Given the description of an element on the screen output the (x, y) to click on. 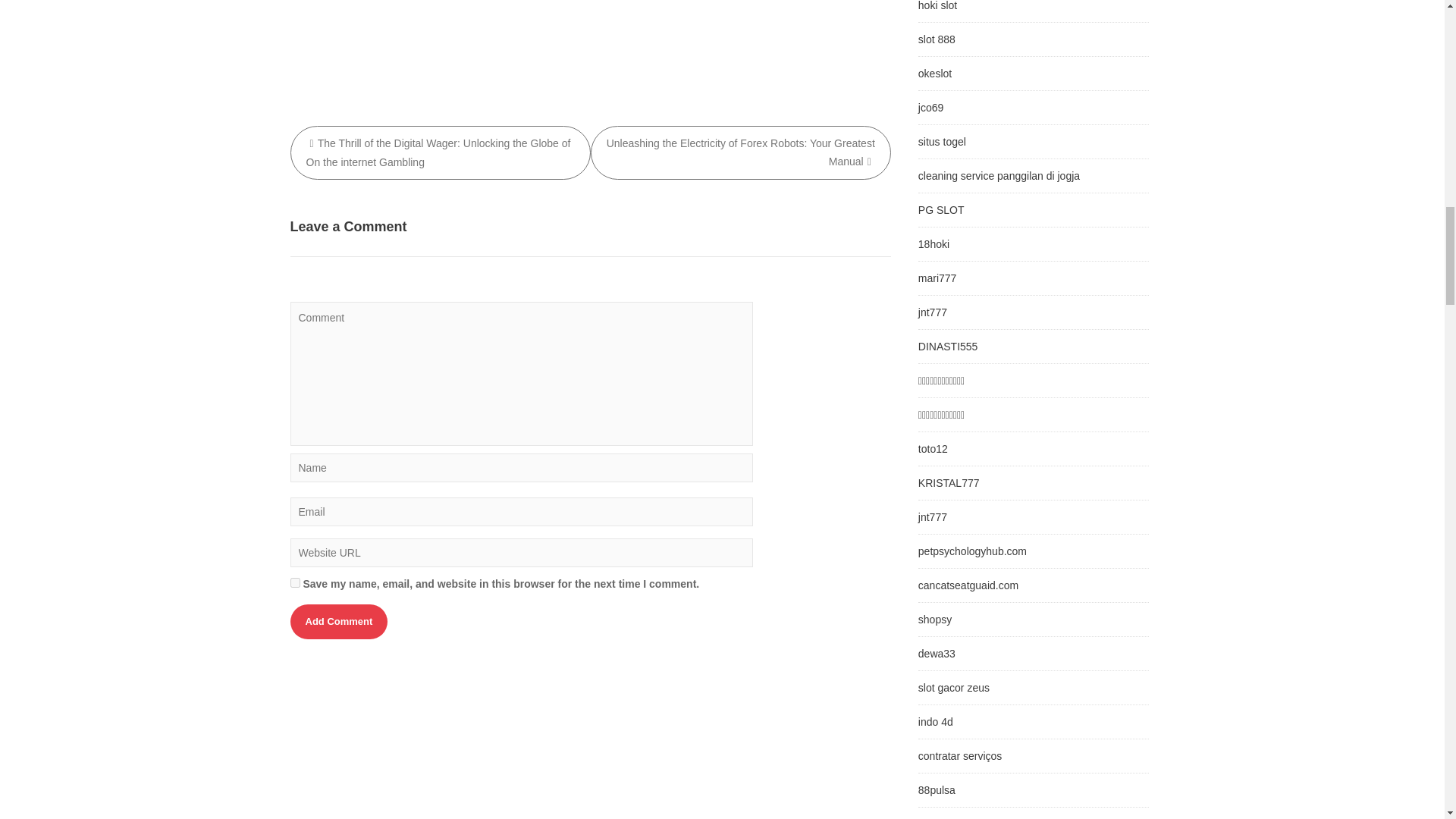
Add Comment (338, 621)
yes (294, 583)
Add Comment (338, 621)
